Given the description of an element on the screen output the (x, y) to click on. 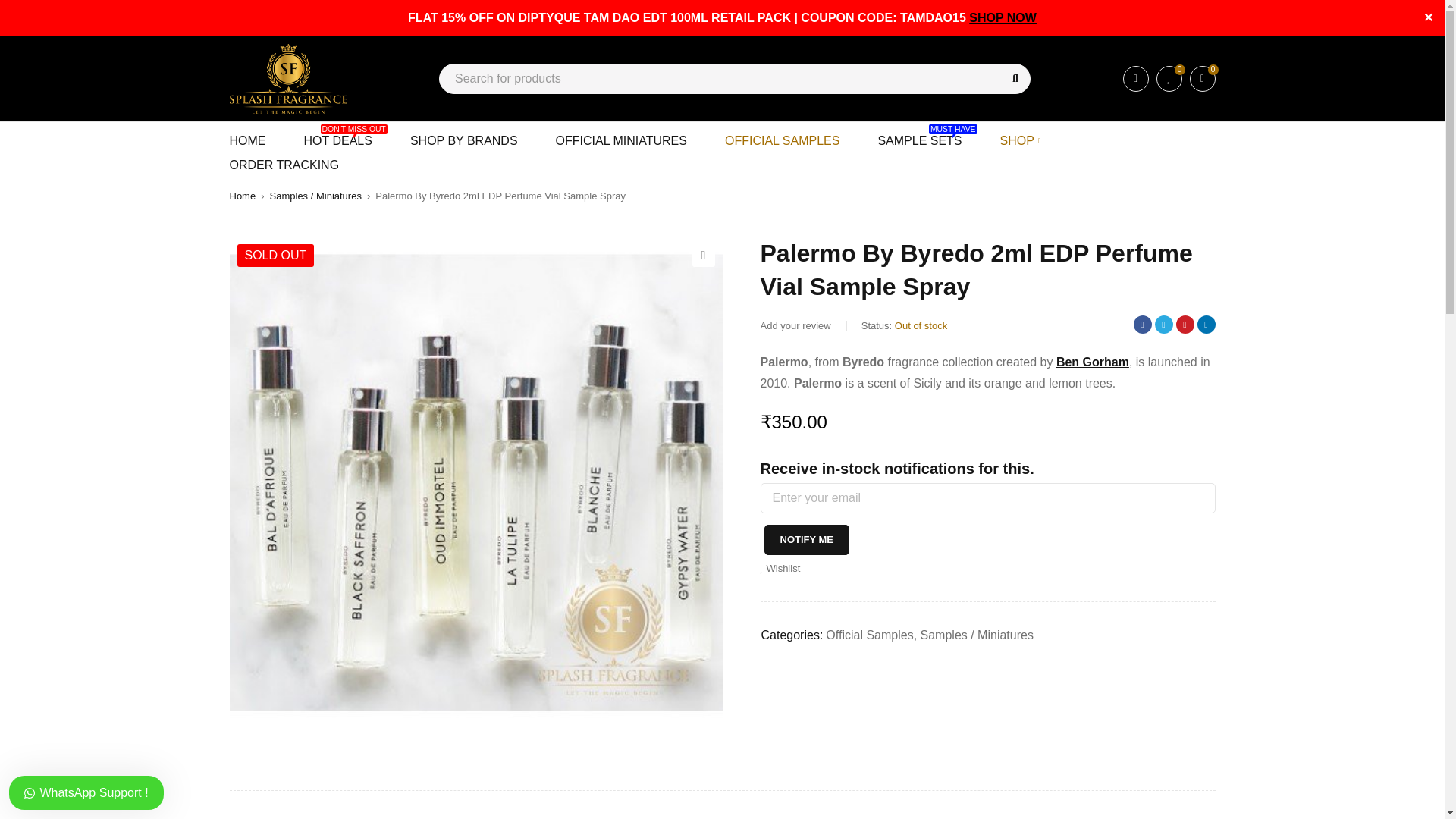
Login (1135, 78)
MyDecor (287, 78)
0 (1168, 78)
HOME (246, 140)
Ben Gorham (918, 140)
Add your review (1093, 361)
0 (794, 325)
SHOP BY BRANDS (1201, 78)
View your shopping cart (464, 140)
Wishlist (1201, 78)
SHOP NOW (779, 568)
Wishlist (1002, 17)
OFFICIAL MINIATURES (1168, 78)
ORDER TRACKING (621, 140)
